Given the description of an element on the screen output the (x, y) to click on. 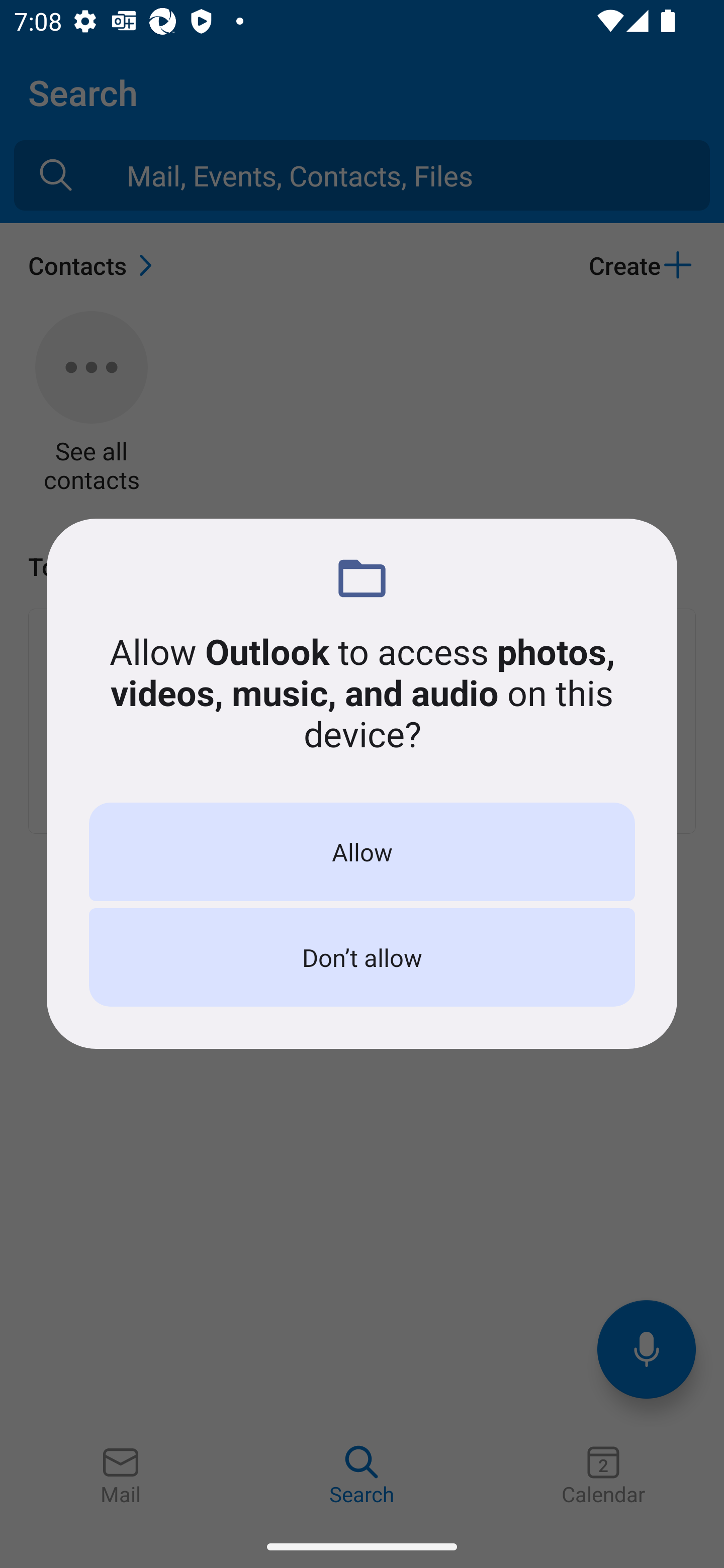
Allow (361, 851)
Don’t allow (361, 956)
